Given the description of an element on the screen output the (x, y) to click on. 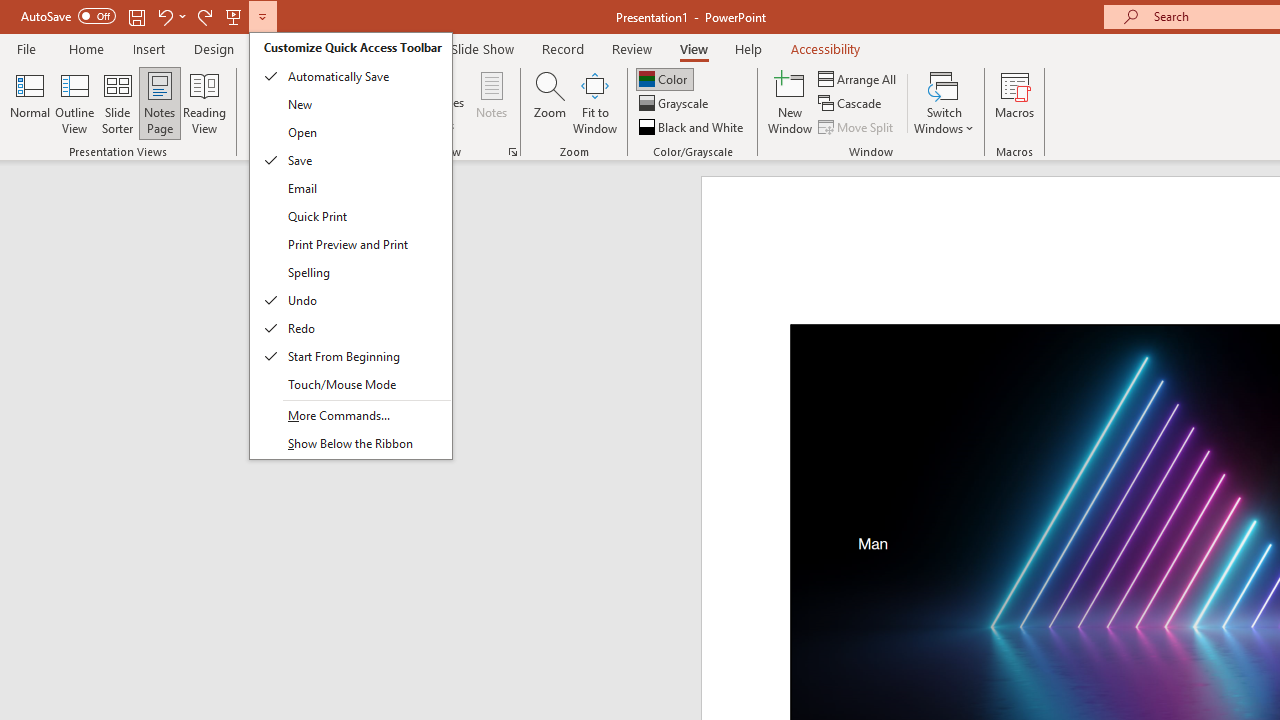
Notes (492, 102)
Black and White (693, 126)
Cascade (851, 103)
Grid Settings... (512, 151)
Grayscale (675, 103)
Zoom... (549, 102)
Color (664, 78)
Arrange All (858, 78)
